Given the description of an element on the screen output the (x, y) to click on. 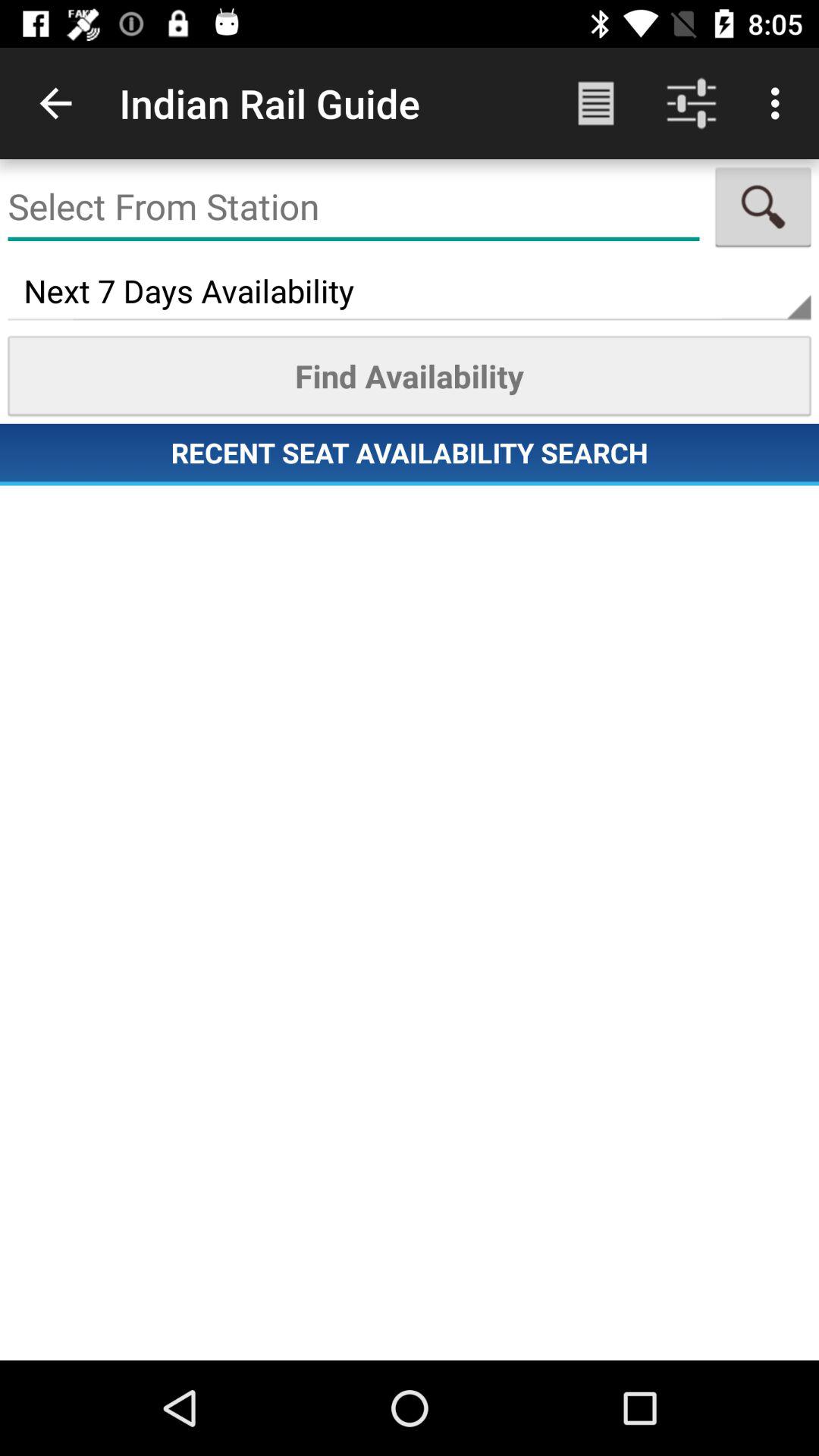
turn on icon next to indian rail guide app (55, 103)
